Given the description of an element on the screen output the (x, y) to click on. 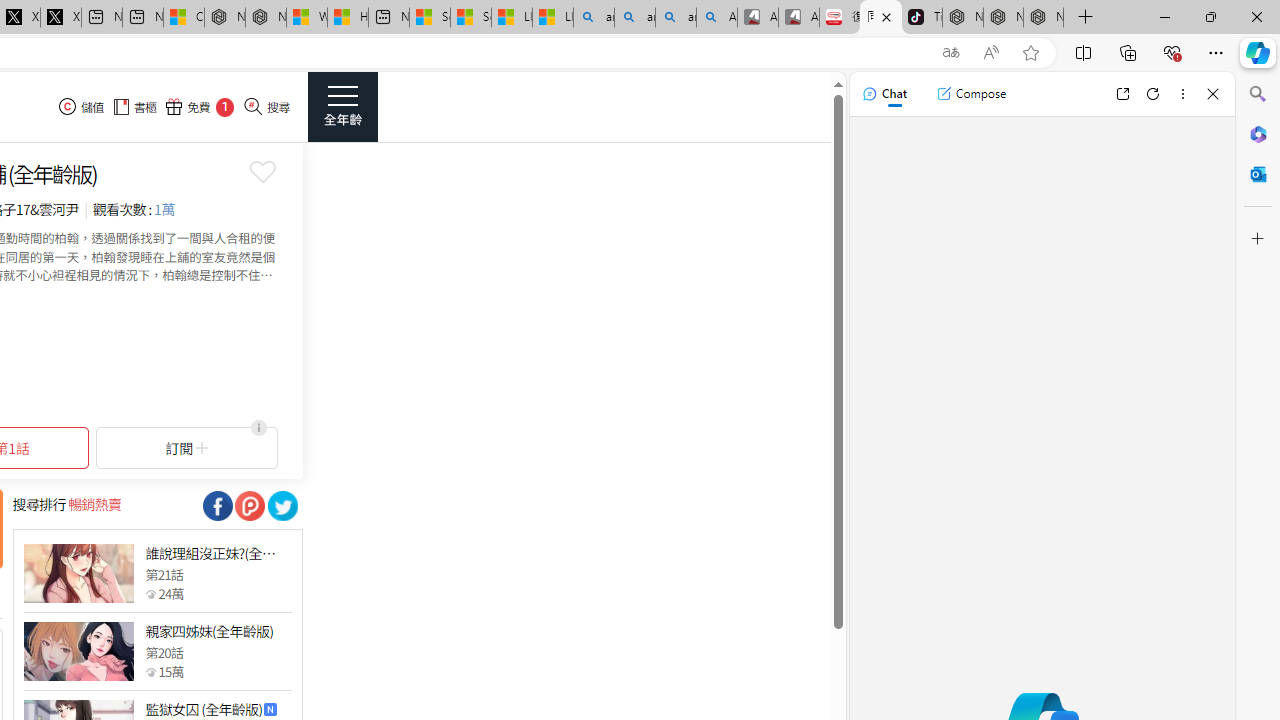
Class: socialShare (282, 506)
